Given the description of an element on the screen output the (x, y) to click on. 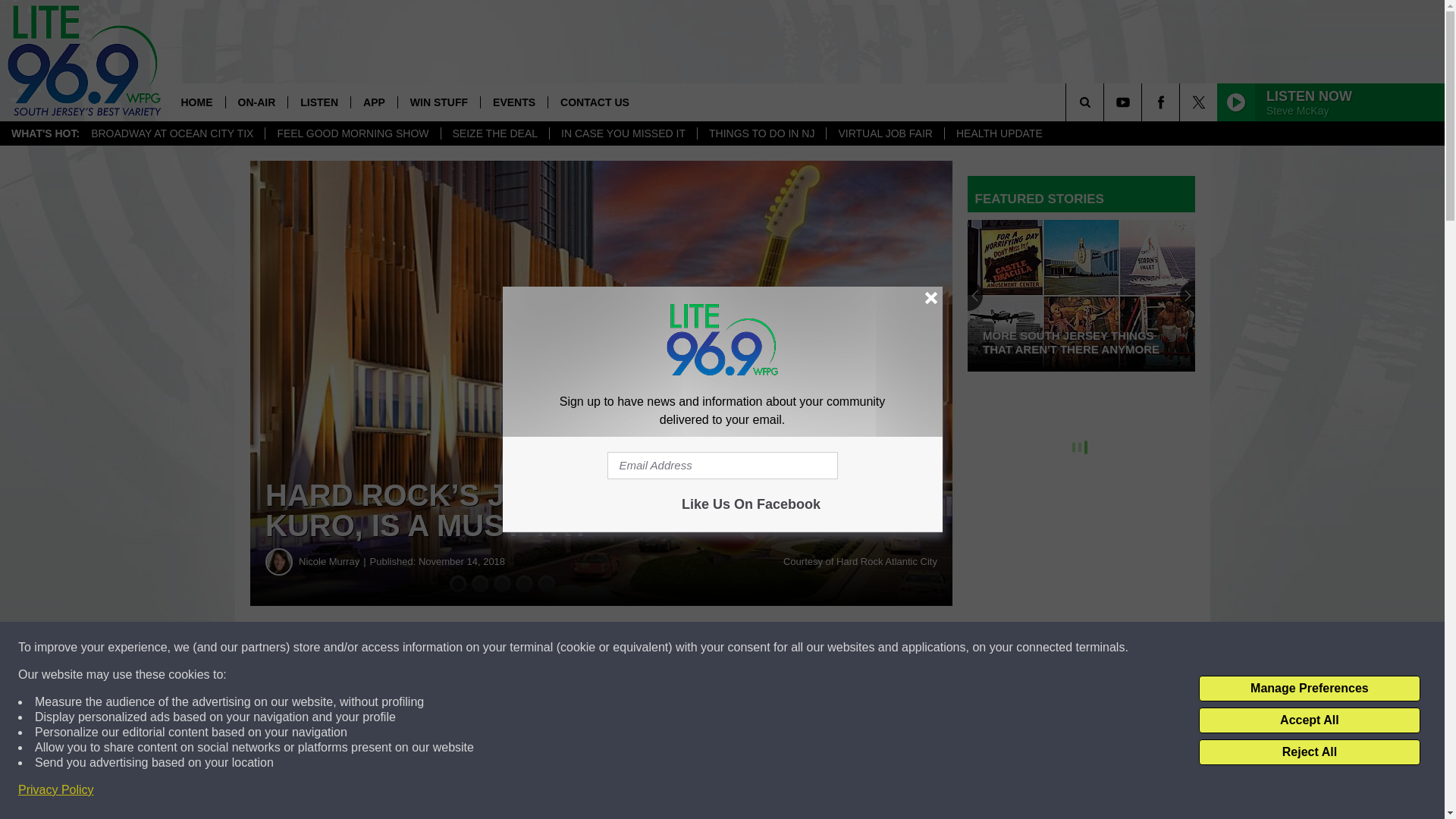
SEIZE THE DEAL (495, 133)
THINGS TO DO IN NJ (762, 133)
FEEL GOOD MORNING SHOW (351, 133)
Share on Twitter (741, 647)
SEARCH (1106, 102)
ON-AIR (255, 102)
Reject All (1309, 751)
LISTEN (318, 102)
Accept All (1309, 720)
APP (373, 102)
Privacy Policy (55, 789)
IN CASE YOU MISSED IT (622, 133)
VIRTUAL JOB FAIR (884, 133)
BROADWAY AT OCEAN CITY TIX (172, 133)
Share on Facebook (460, 647)
